Given the description of an element on the screen output the (x, y) to click on. 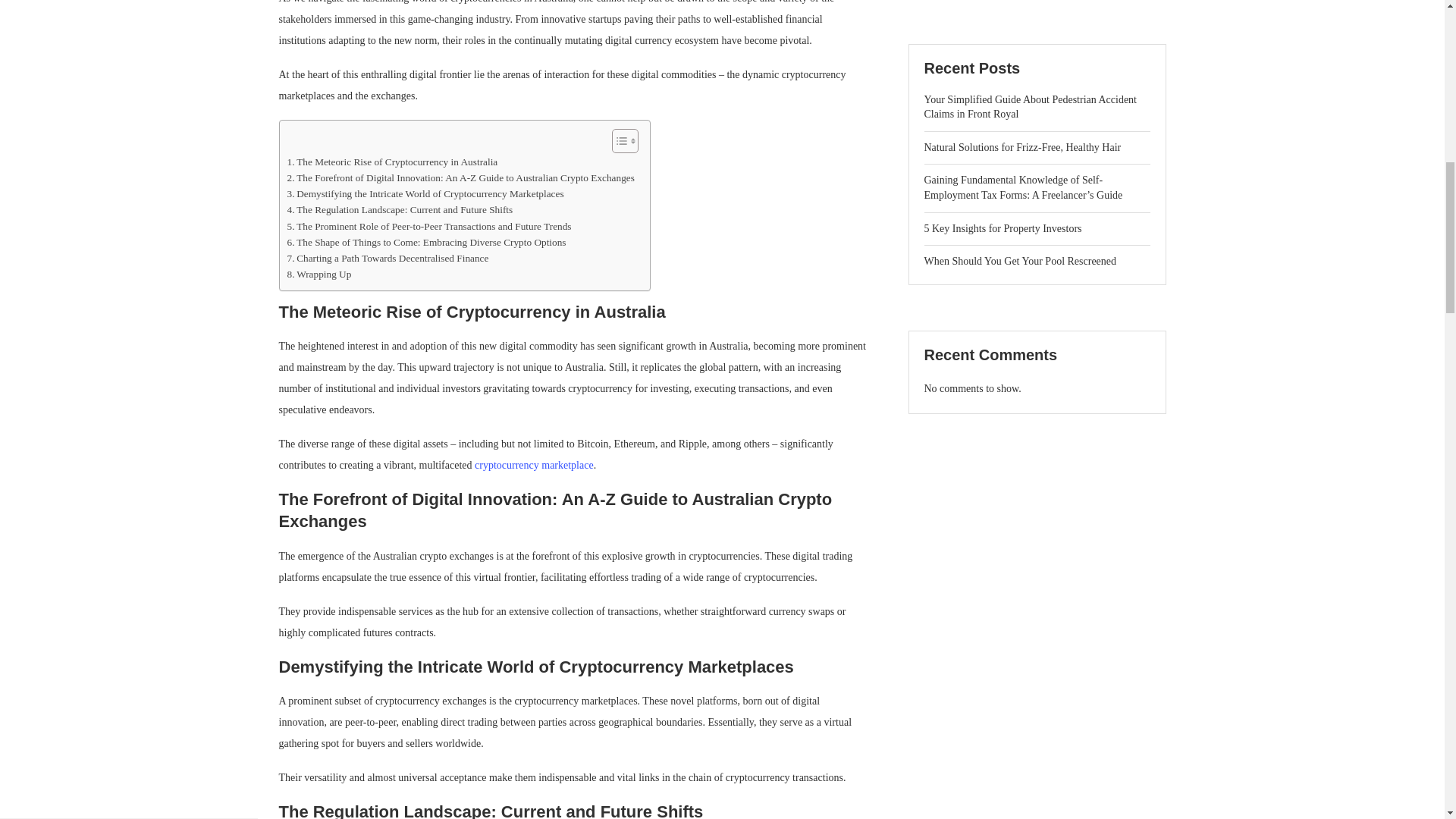
The Regulation Landscape: Current and Future Shifts (399, 209)
Wrapping Up (318, 273)
The Meteoric Rise of Cryptocurrency in Australia (391, 161)
The Meteoric Rise of Cryptocurrency in Australia (391, 161)
Charting a Path Towards Decentralised Finance (386, 258)
The Regulation Landscape: Current and Future Shifts (399, 209)
